Given the description of an element on the screen output the (x, y) to click on. 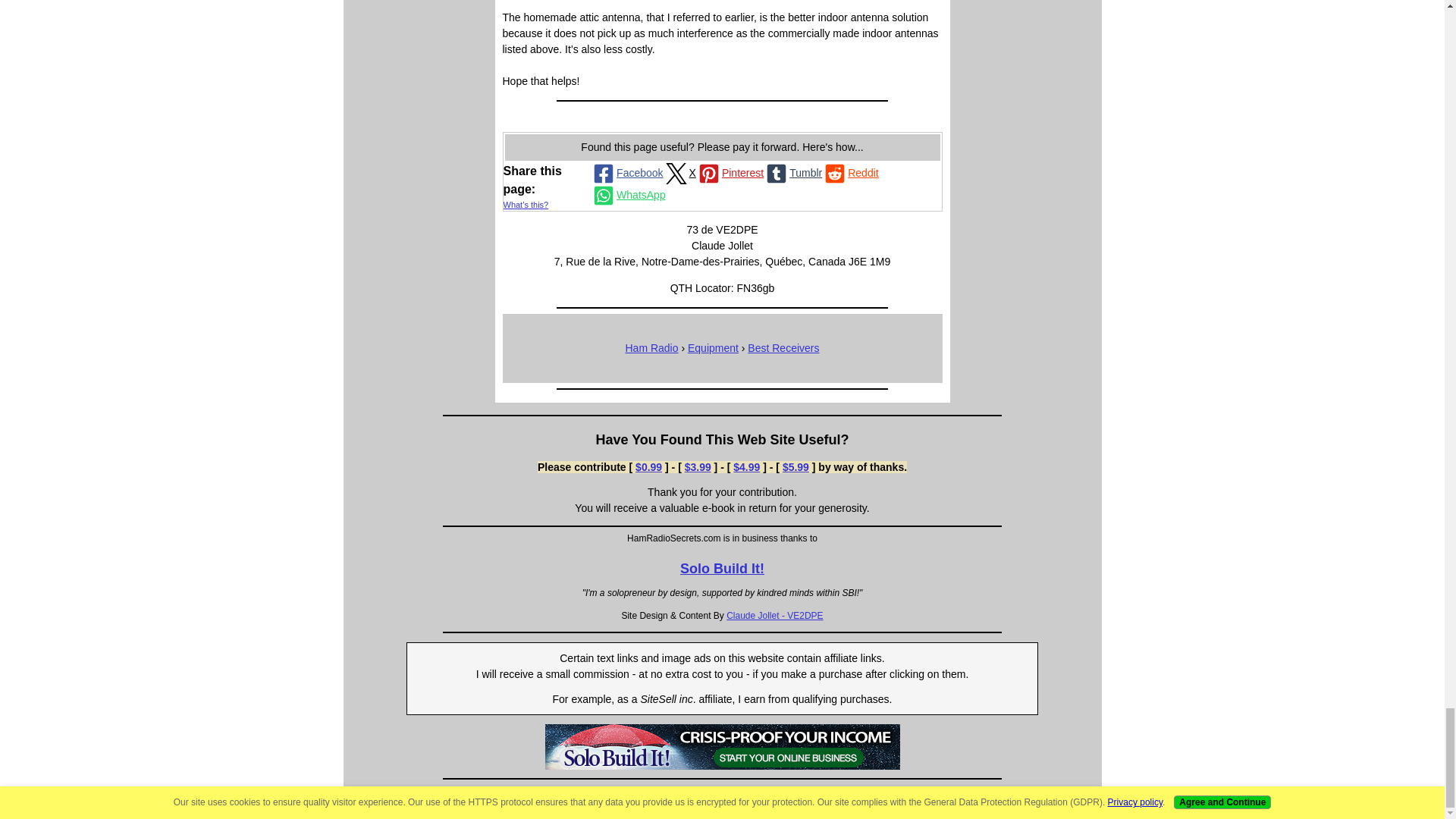
Ham Radio (651, 347)
Facebook (626, 173)
Reddit (849, 173)
Pinterest (728, 173)
Tumblr (792, 173)
X (679, 173)
Best Receivers (783, 347)
Equipment (712, 347)
WhatsApp (628, 195)
